Given the description of an element on the screen output the (x, y) to click on. 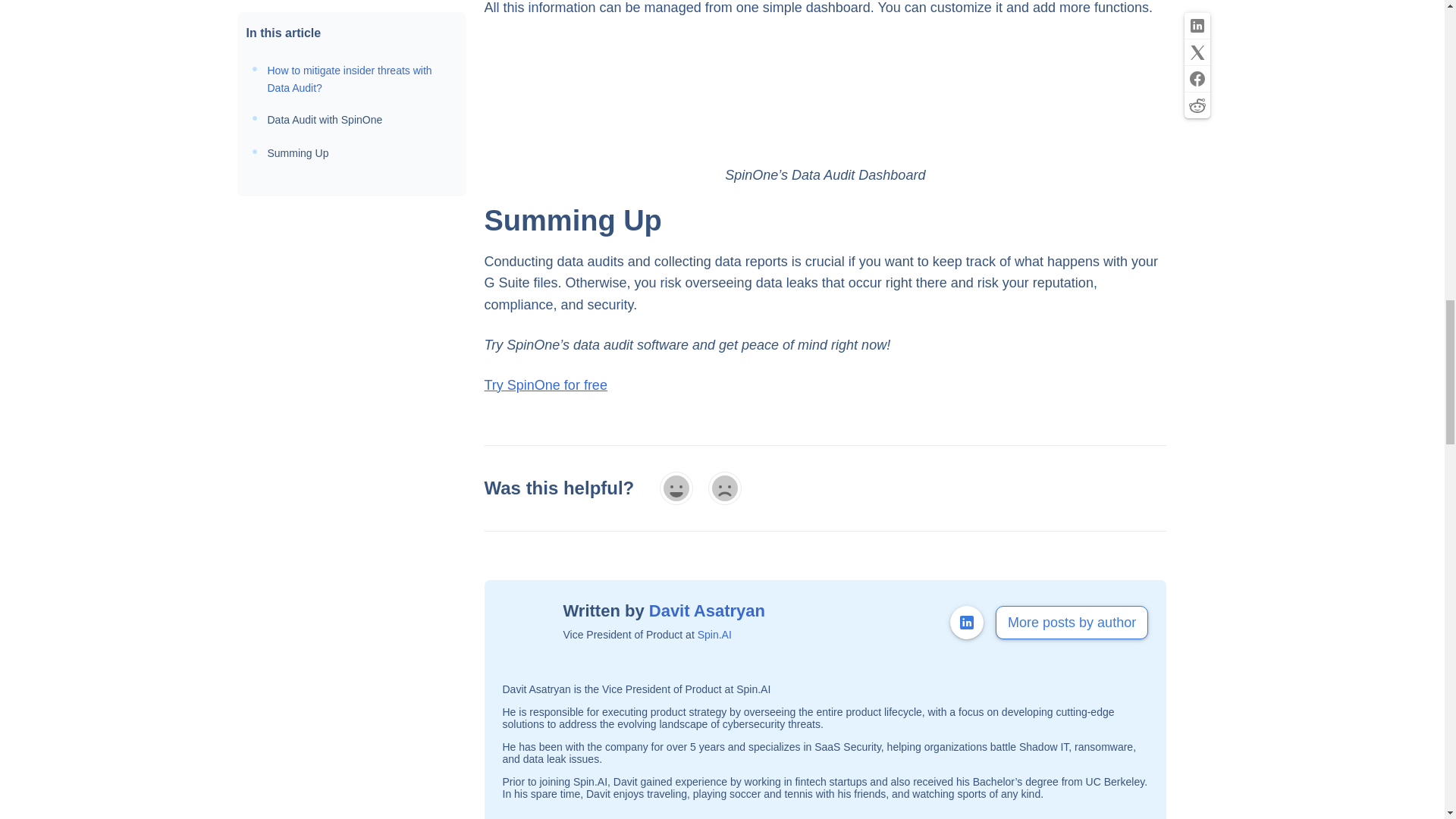
Try SpiOne for Free (545, 385)
Posts by Davit Asatryan (707, 610)
Go to Linkedin Profile (967, 622)
